Given the description of an element on the screen output the (x, y) to click on. 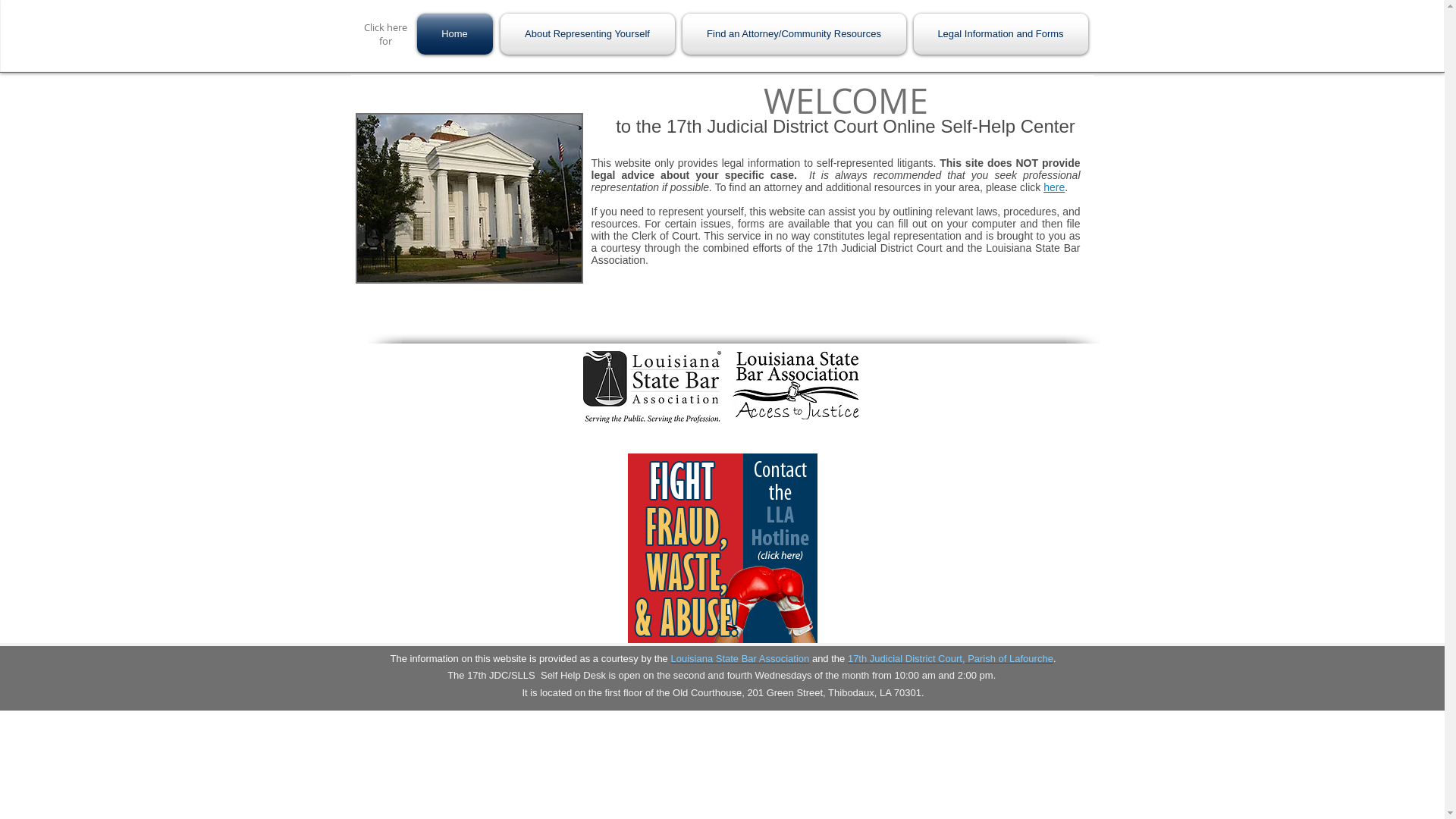
About Representing Yourself Element type: text (586, 33)
Louisiana State Bar Association Element type: text (739, 658)
Legal Information and Forms Element type: text (999, 33)
Home Element type: text (456, 33)
here Element type: text (1053, 187)
Find an Attorney/Community Resources Element type: text (793, 33)
17th Judicial District Court, Parish of Lafourche Element type: text (950, 658)
